Given the description of an element on the screen output the (x, y) to click on. 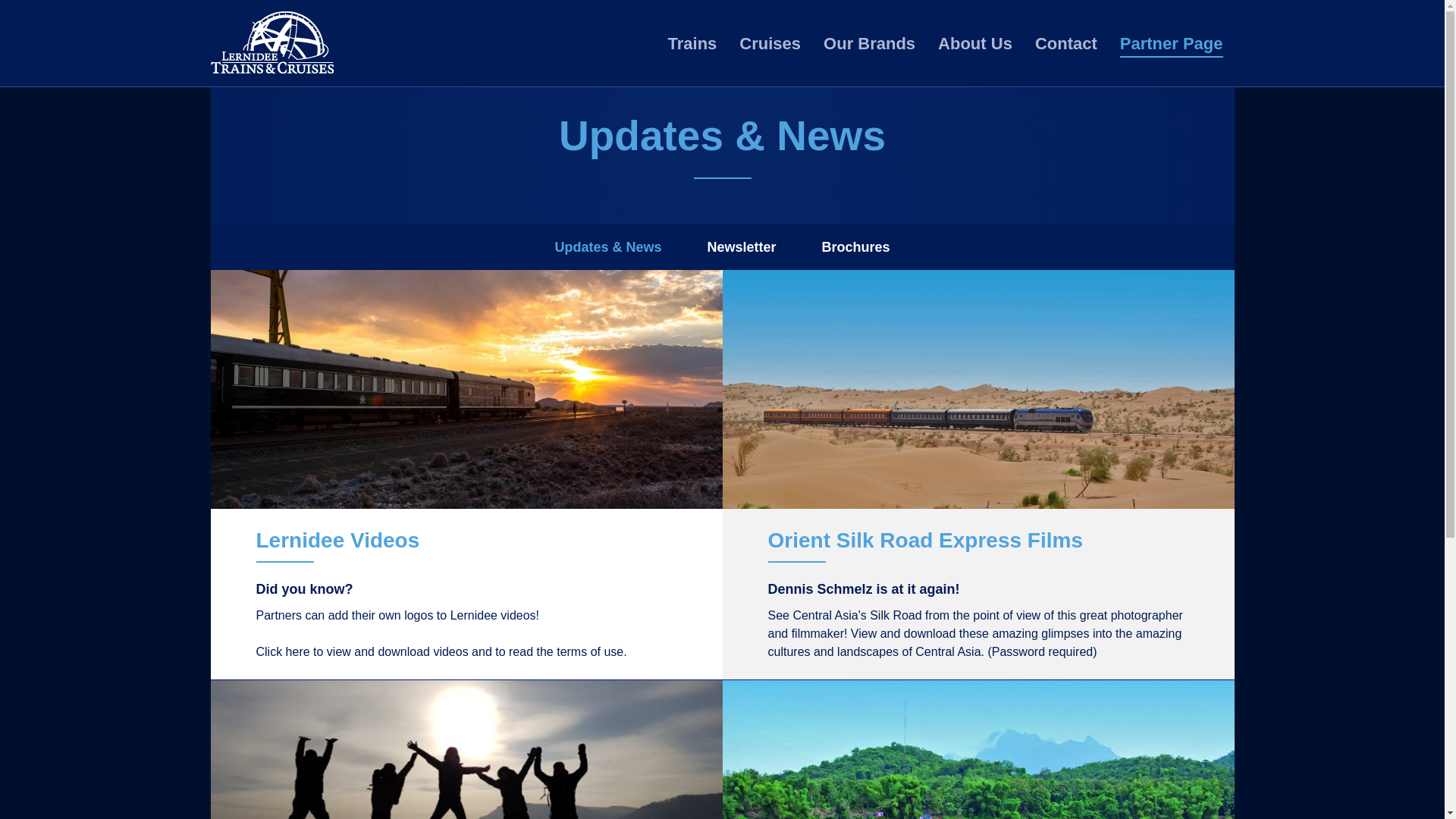
Our Brands (869, 38)
Trains (692, 38)
About Us (974, 38)
Newsletter (740, 247)
Cruises (769, 38)
Contact (1066, 38)
Contact (1066, 38)
About Us (974, 38)
Cruises (769, 38)
Lernidee - Trains and Cruises (272, 43)
Trains (692, 38)
Our Brands (869, 38)
Brochures (855, 247)
